Given the description of an element on the screen output the (x, y) to click on. 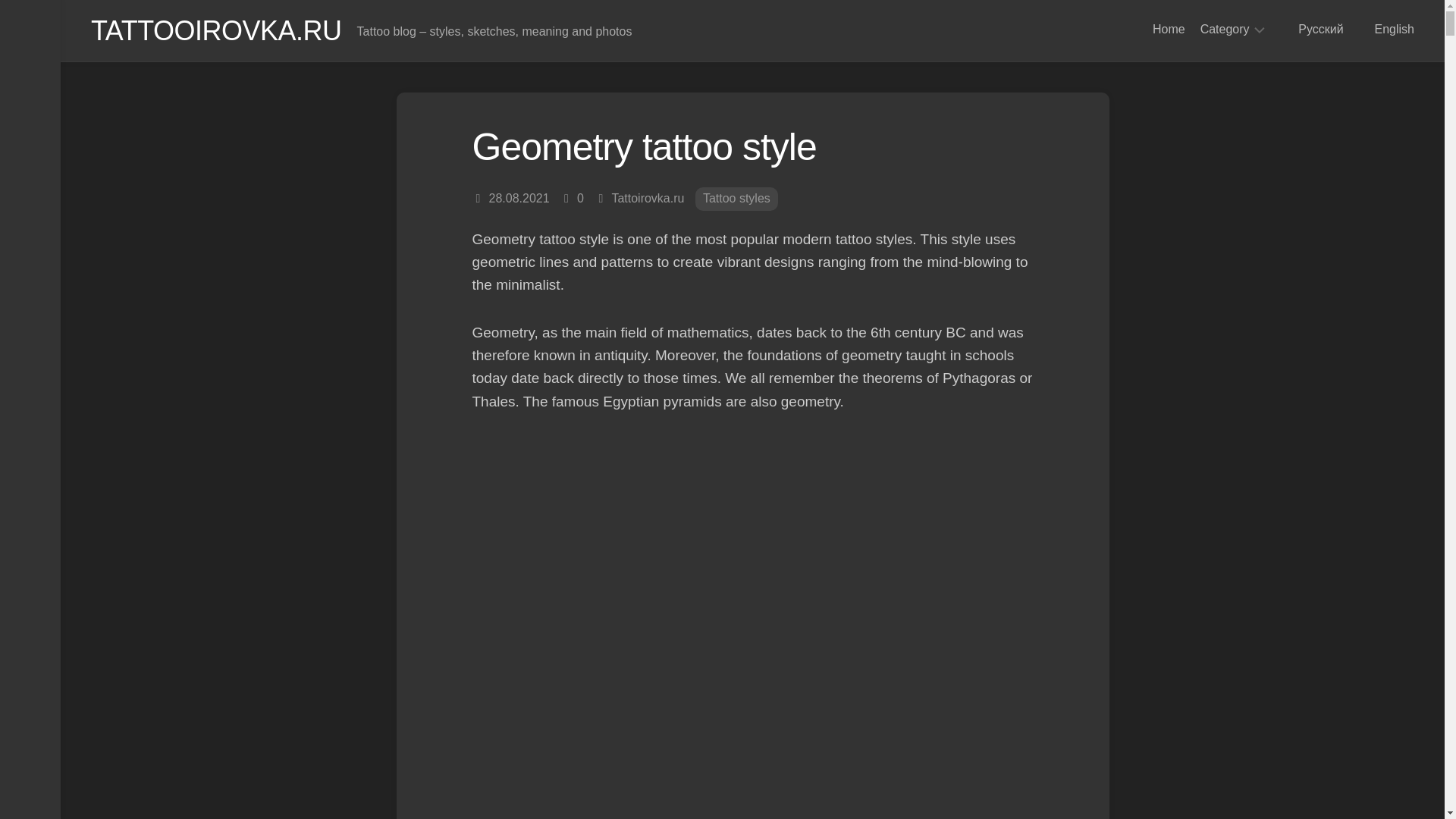
Tattoirovka.ru (647, 197)
Home (1169, 29)
Category (1224, 29)
0 (579, 197)
Tattoo styles (736, 198)
English (1385, 29)
Posts by Tattoirovka.ru (647, 197)
TATTOOIROVKA.RU (216, 31)
